Given the description of an element on the screen output the (x, y) to click on. 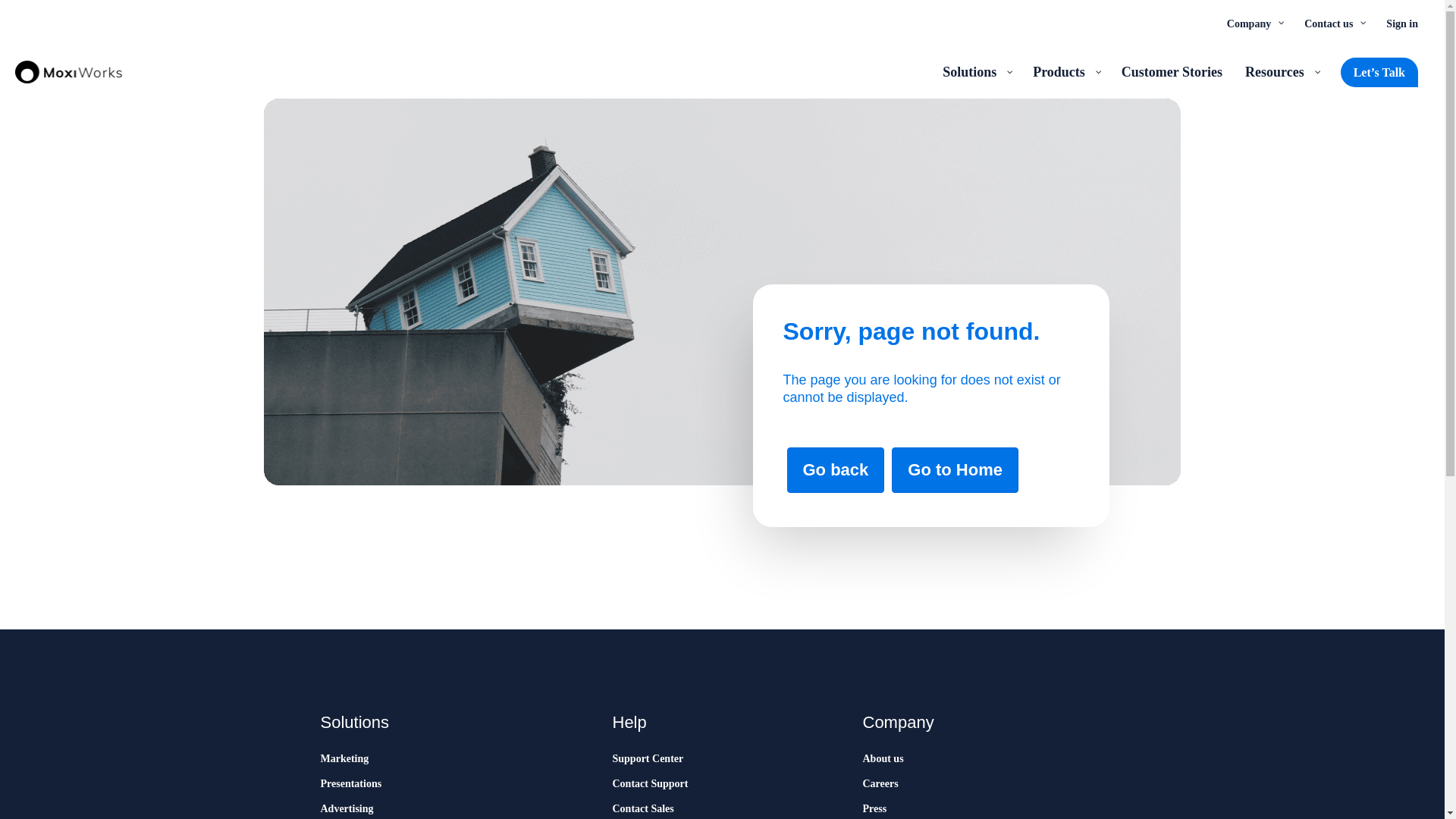
Sign in (1401, 22)
Contact us (1333, 22)
Company (1253, 22)
Solutions (976, 72)
Products (1065, 72)
